Given the description of an element on the screen output the (x, y) to click on. 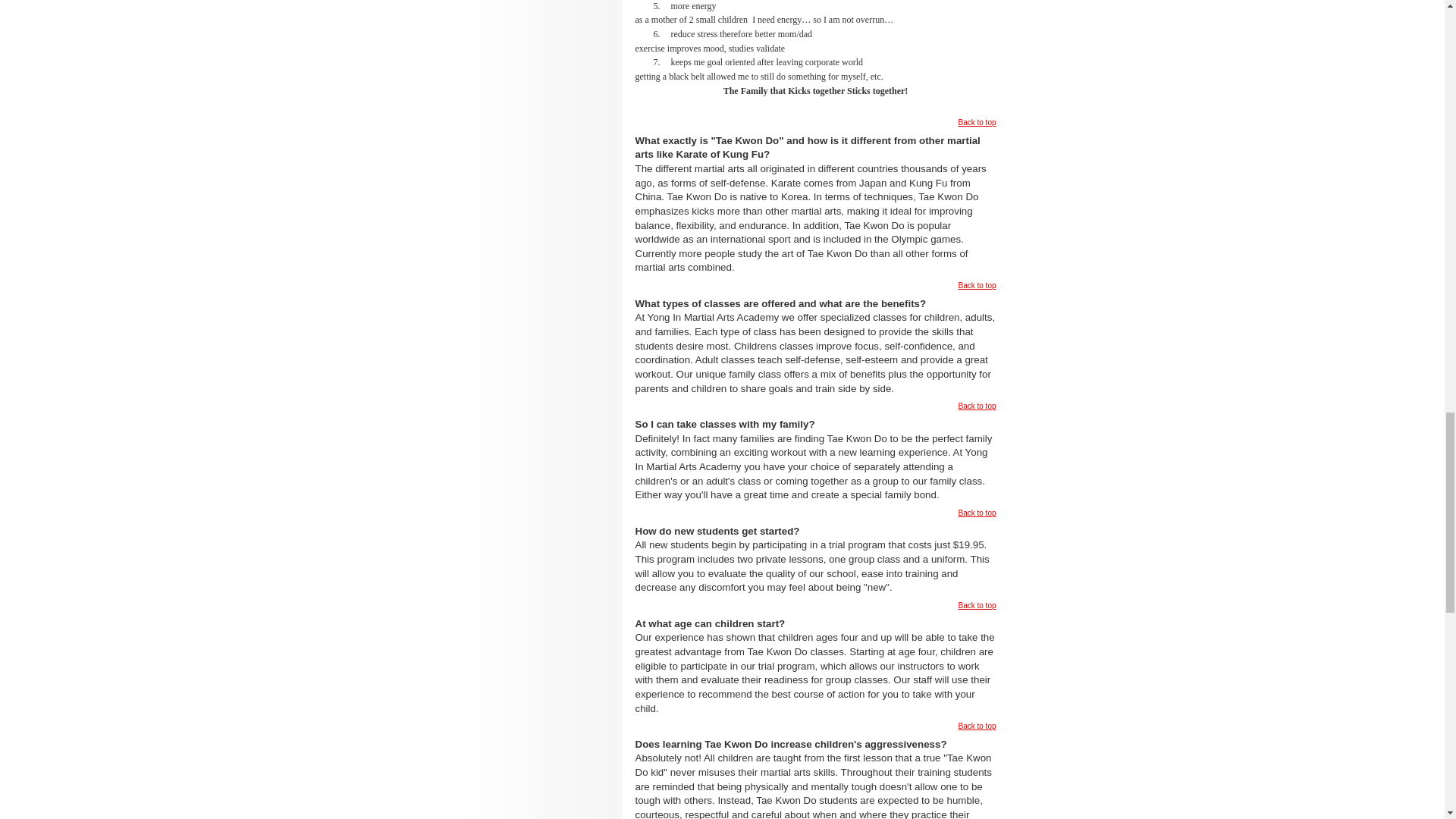
Back to top (976, 121)
Back to top (976, 285)
Back to top (976, 406)
